Given the description of an element on the screen output the (x, y) to click on. 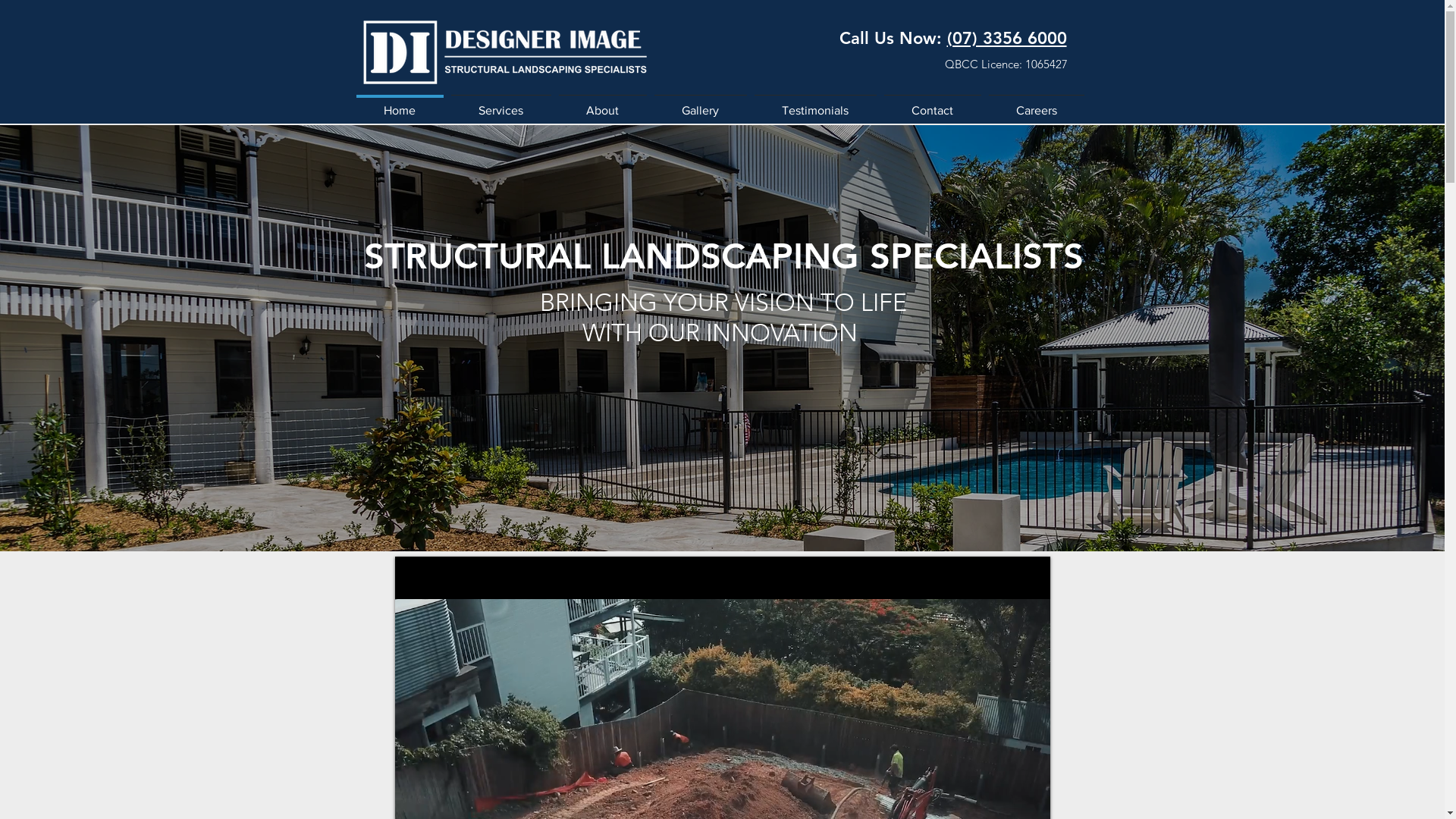
Testimonials Element type: text (815, 103)
Home Element type: text (398, 103)
(07) 3356 6000 Element type: text (1006, 38)
Services Element type: text (501, 103)
Gallery Element type: text (700, 103)
Contact Element type: text (931, 103)
Careers Element type: text (1035, 103)
About Element type: text (602, 103)
